Given the description of an element on the screen output the (x, y) to click on. 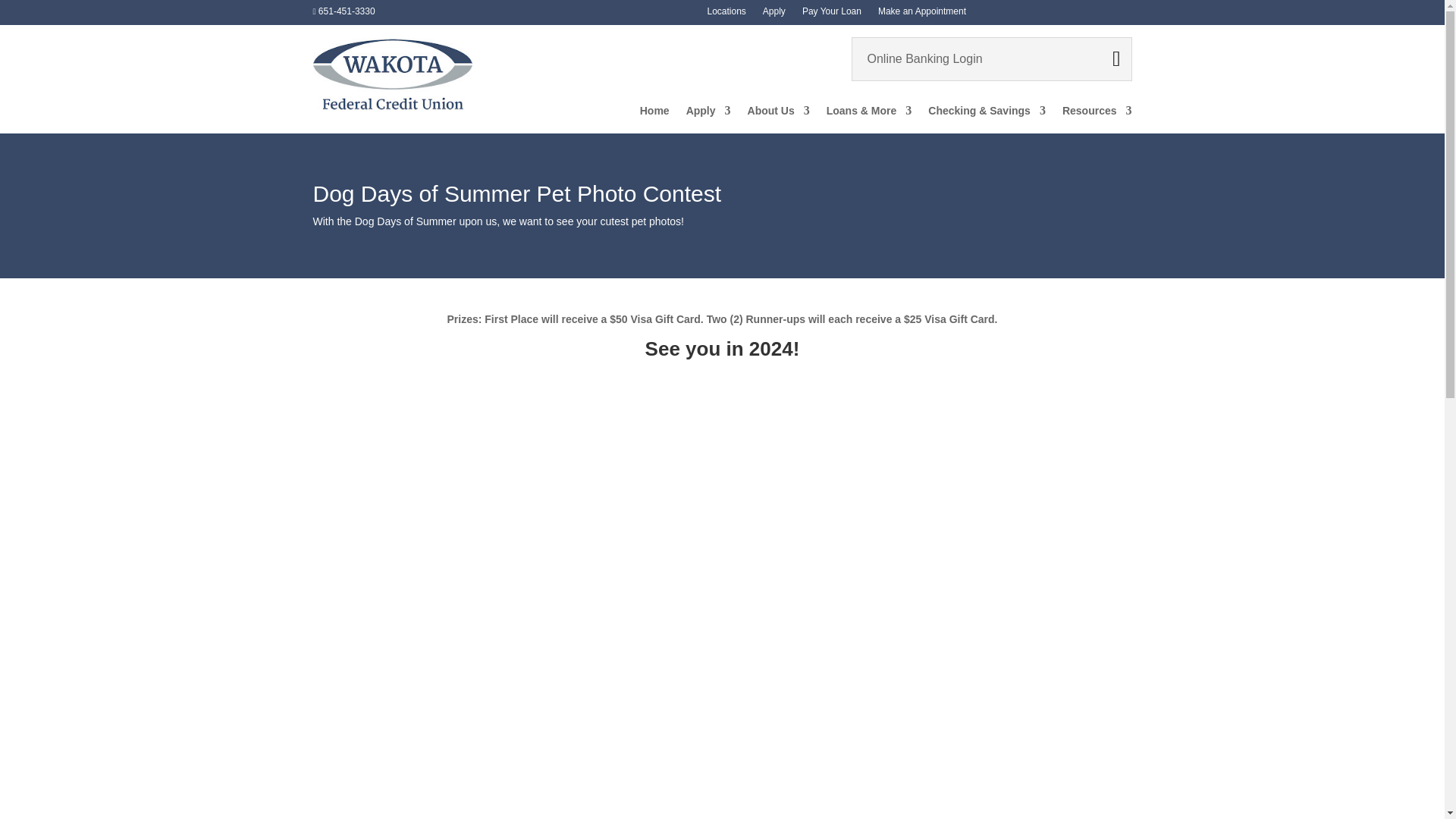
Apply (707, 113)
Wakota Federal Credit Union logo (392, 73)
Resources (1097, 113)
Locations (725, 13)
About Us (778, 113)
Pay Your Loan (831, 13)
Make an Appointment (921, 13)
Home (654, 113)
Apply (774, 13)
